Given the description of an element on the screen output the (x, y) to click on. 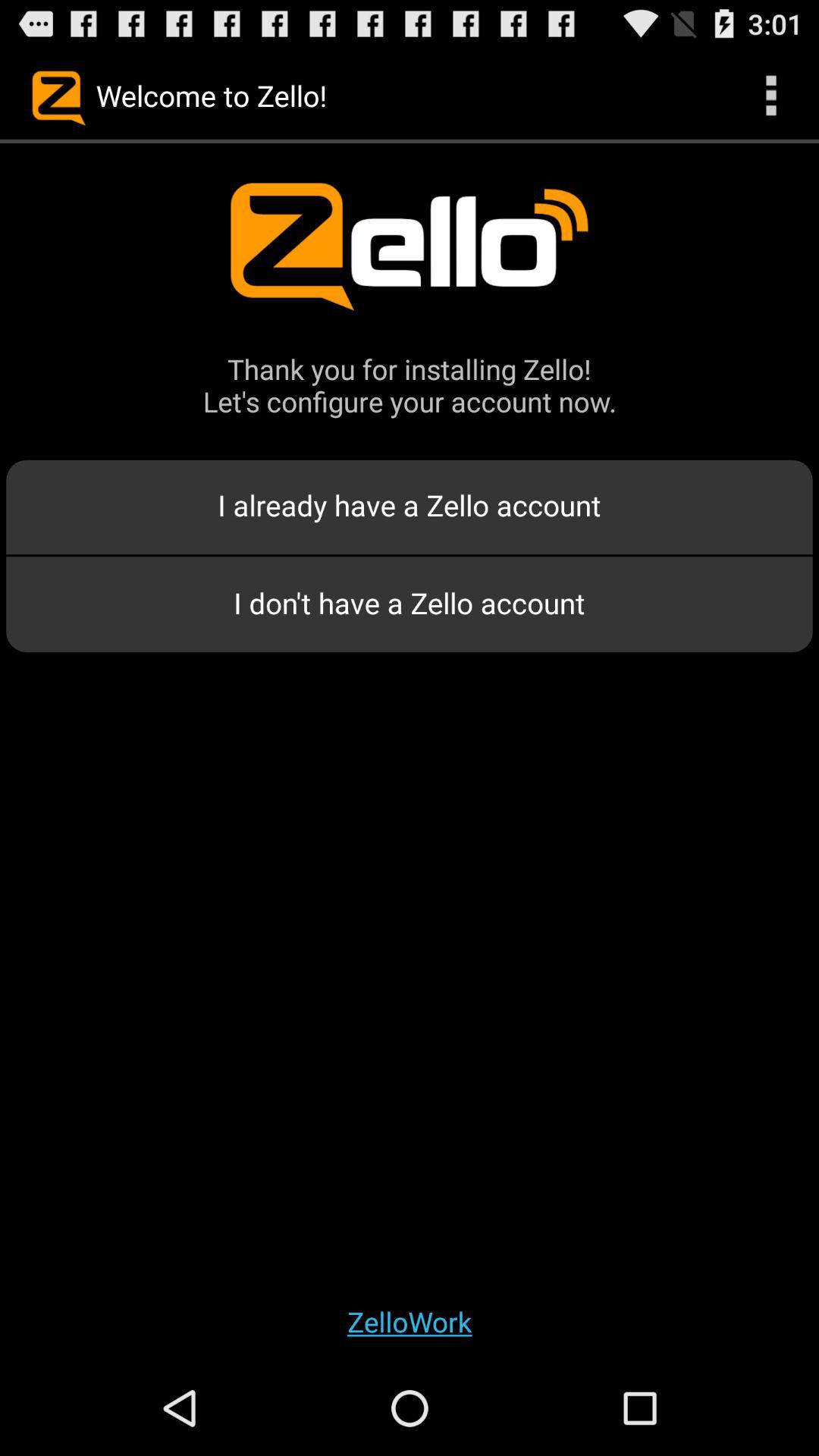
open zellowork item (409, 1321)
